Given the description of an element on the screen output the (x, y) to click on. 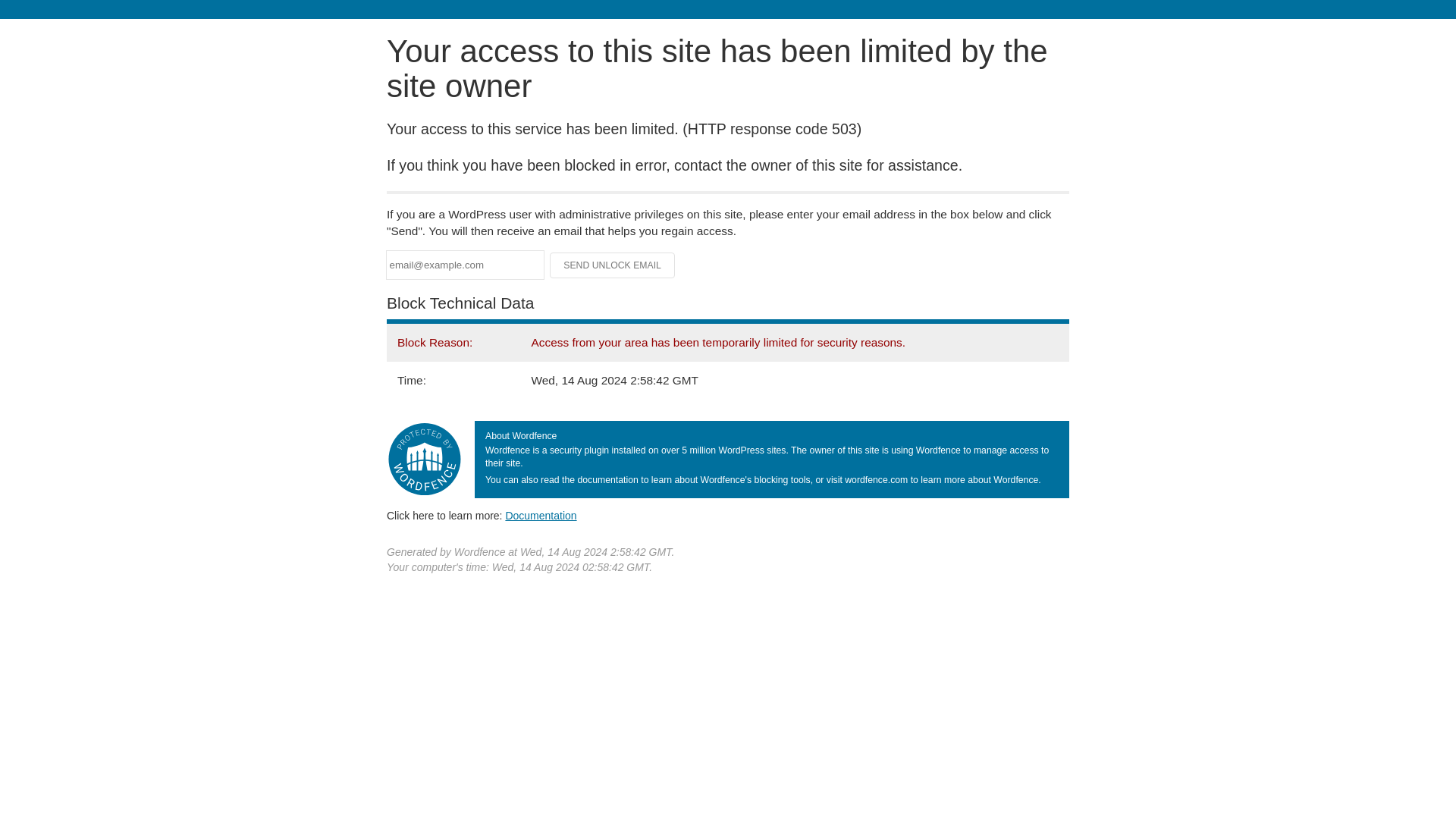
Send Unlock Email (612, 265)
Send Unlock Email (612, 265)
Documentation (540, 515)
